Given the description of an element on the screen output the (x, y) to click on. 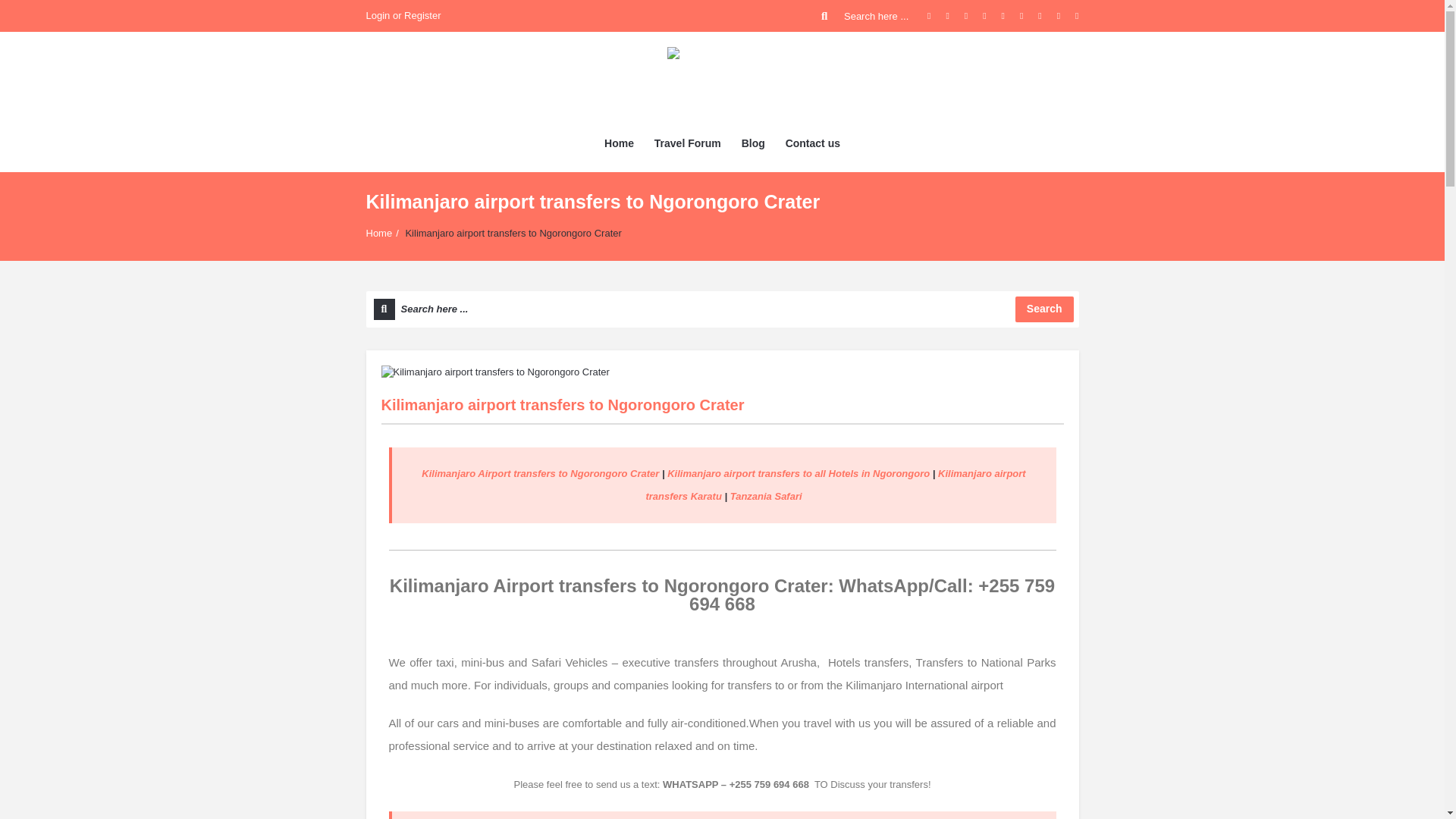
Search here ... (866, 15)
Search here ... (866, 15)
Login or Register (403, 15)
Search here ... (721, 309)
Tanzania Travel Guide  (721, 79)
Search here ... (721, 309)
